Given the description of an element on the screen output the (x, y) to click on. 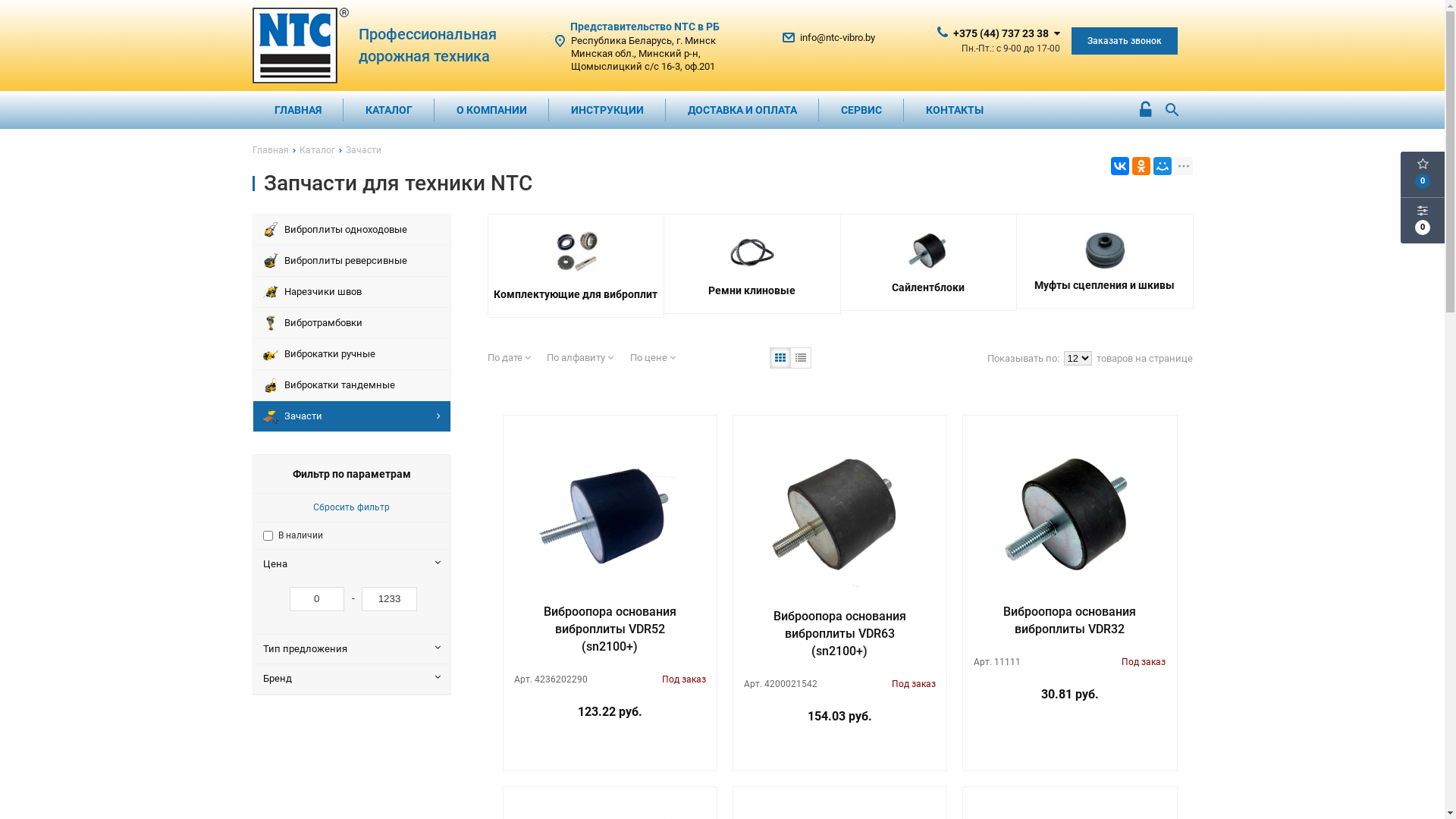
+375 (44) 737 23 38 Element type: text (1000, 33)
0 Element type: text (1422, 220)
0 Element type: text (1422, 174)
info@ntc-vibro.by Element type: text (837, 37)
search Element type: text (1172, 100)
